Given the description of an element on the screen output the (x, y) to click on. 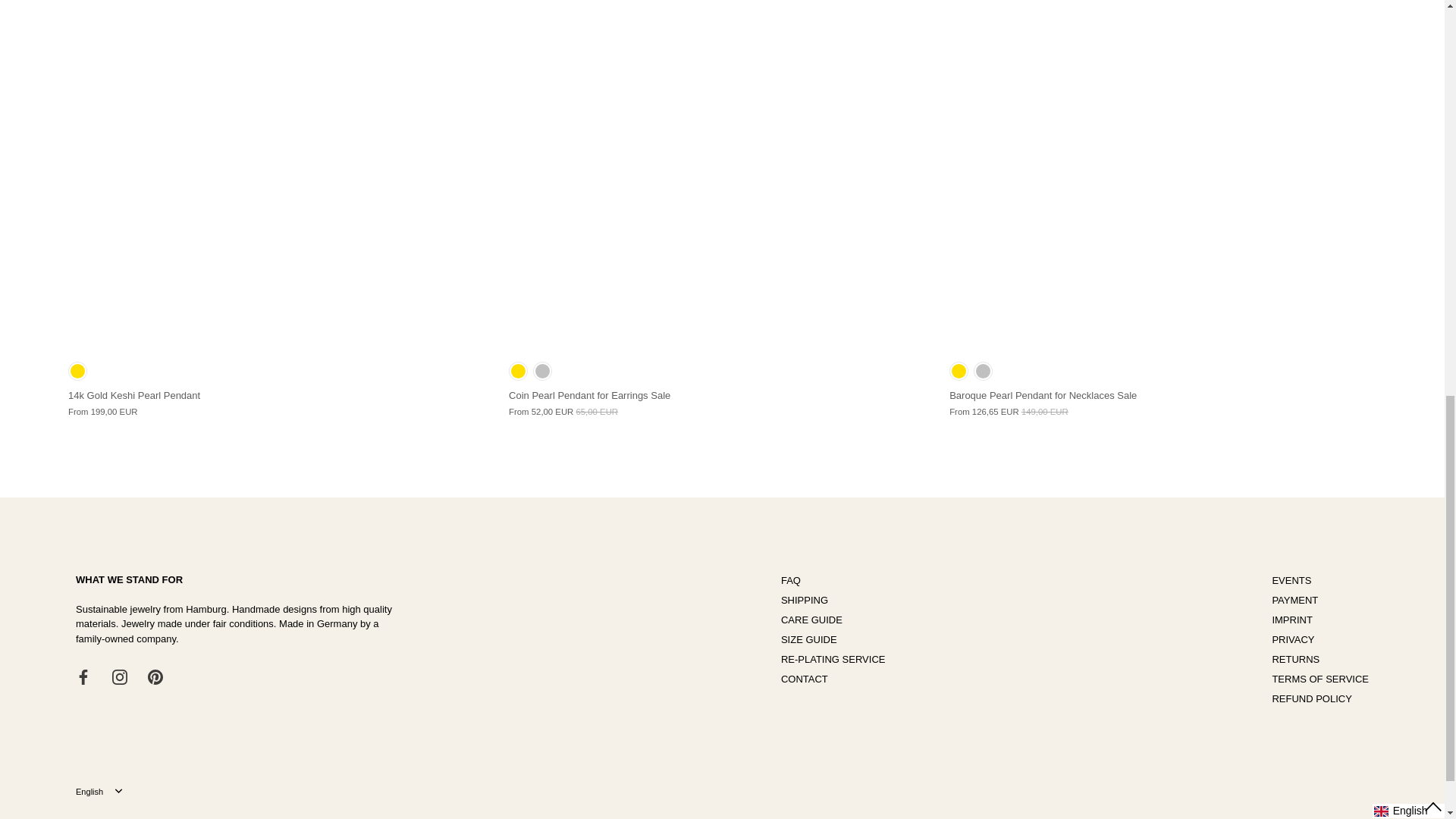
925 sterling silver (542, 371)
Pinterest (155, 676)
Instagram (120, 676)
925 sterling silver (982, 371)
925 sterling silver 18k gold plated (959, 371)
925 sterling silver 18k gold plated (518, 371)
14k gold (76, 371)
